Given the description of an element on the screen output the (x, y) to click on. 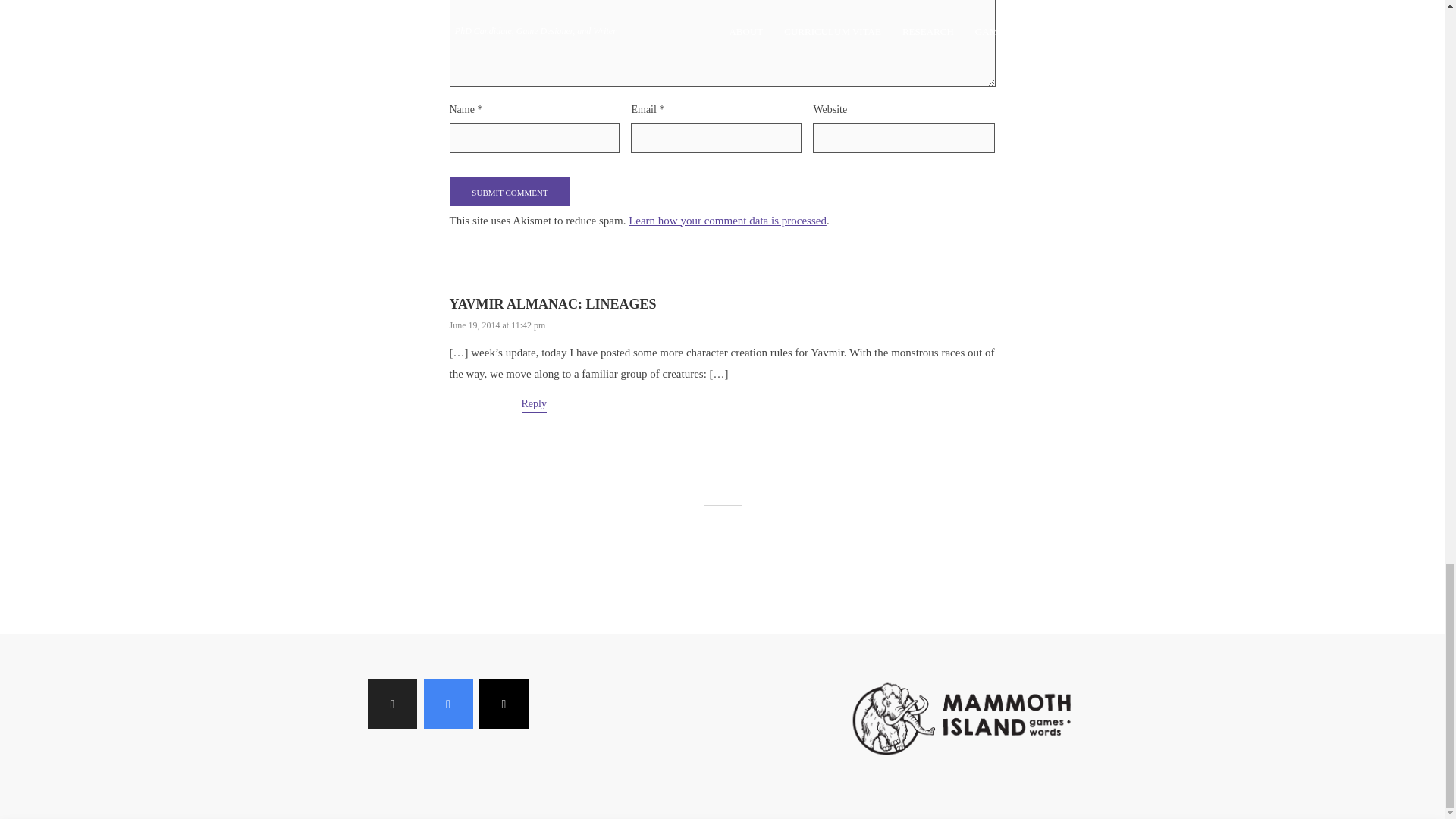
YAVMIR ALMANAC: LINEAGES (552, 304)
Mail (503, 703)
Submit Comment (509, 191)
Reply (534, 405)
Submit Comment (509, 191)
June 19, 2014 at 11:42 pm (496, 325)
Learn how your comment data is processed (727, 220)
Google Scholar (447, 703)
